Given the description of an element on the screen output the (x, y) to click on. 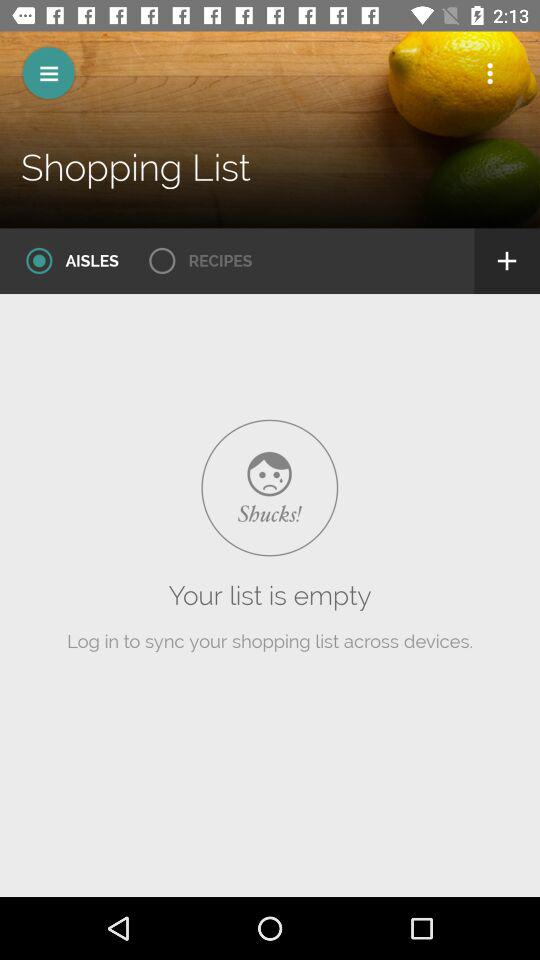
open settings (490, 73)
